Given the description of an element on the screen output the (x, y) to click on. 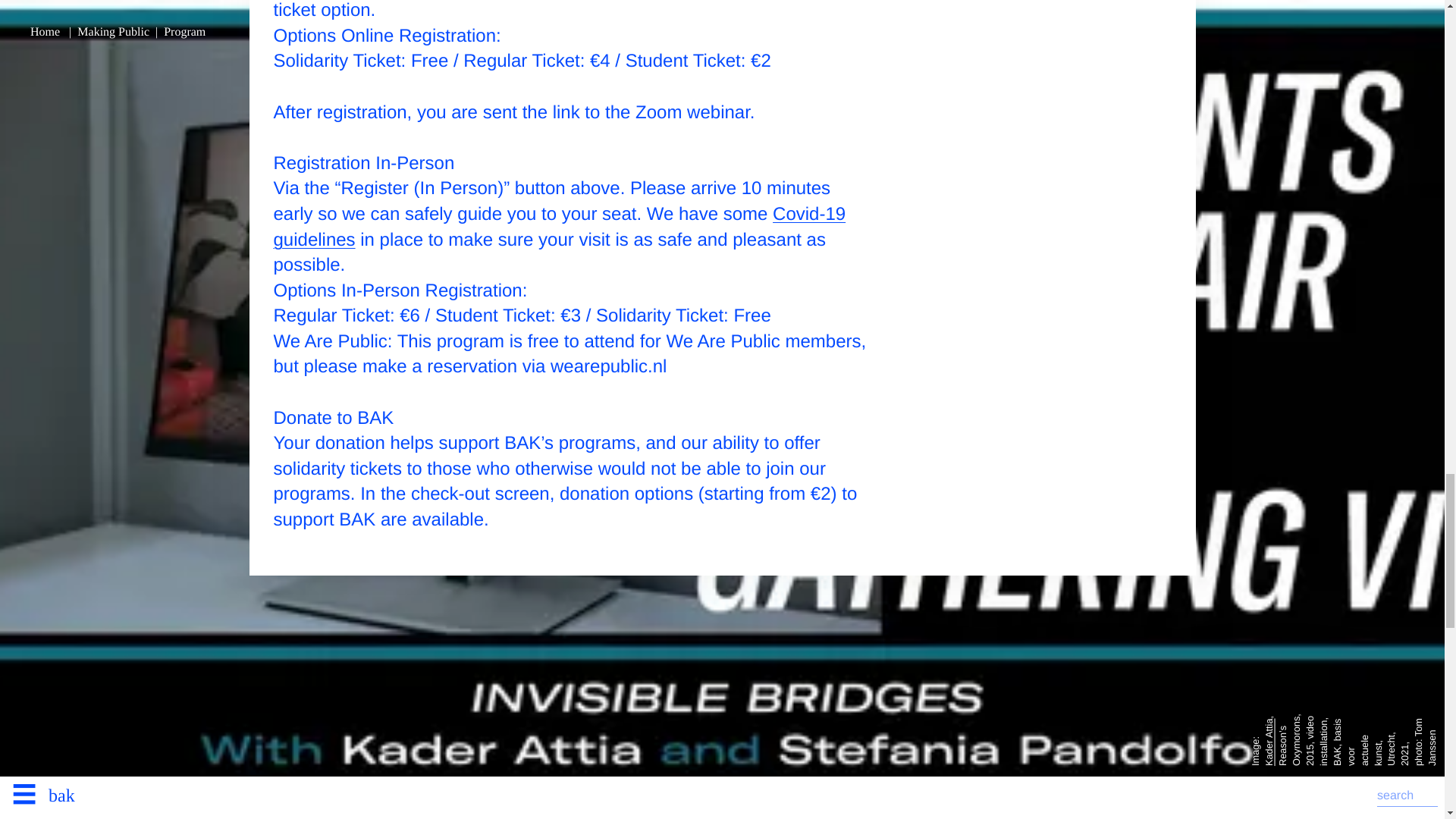
Covid-19 guidelines (559, 226)
